Given the description of an element on the screen output the (x, y) to click on. 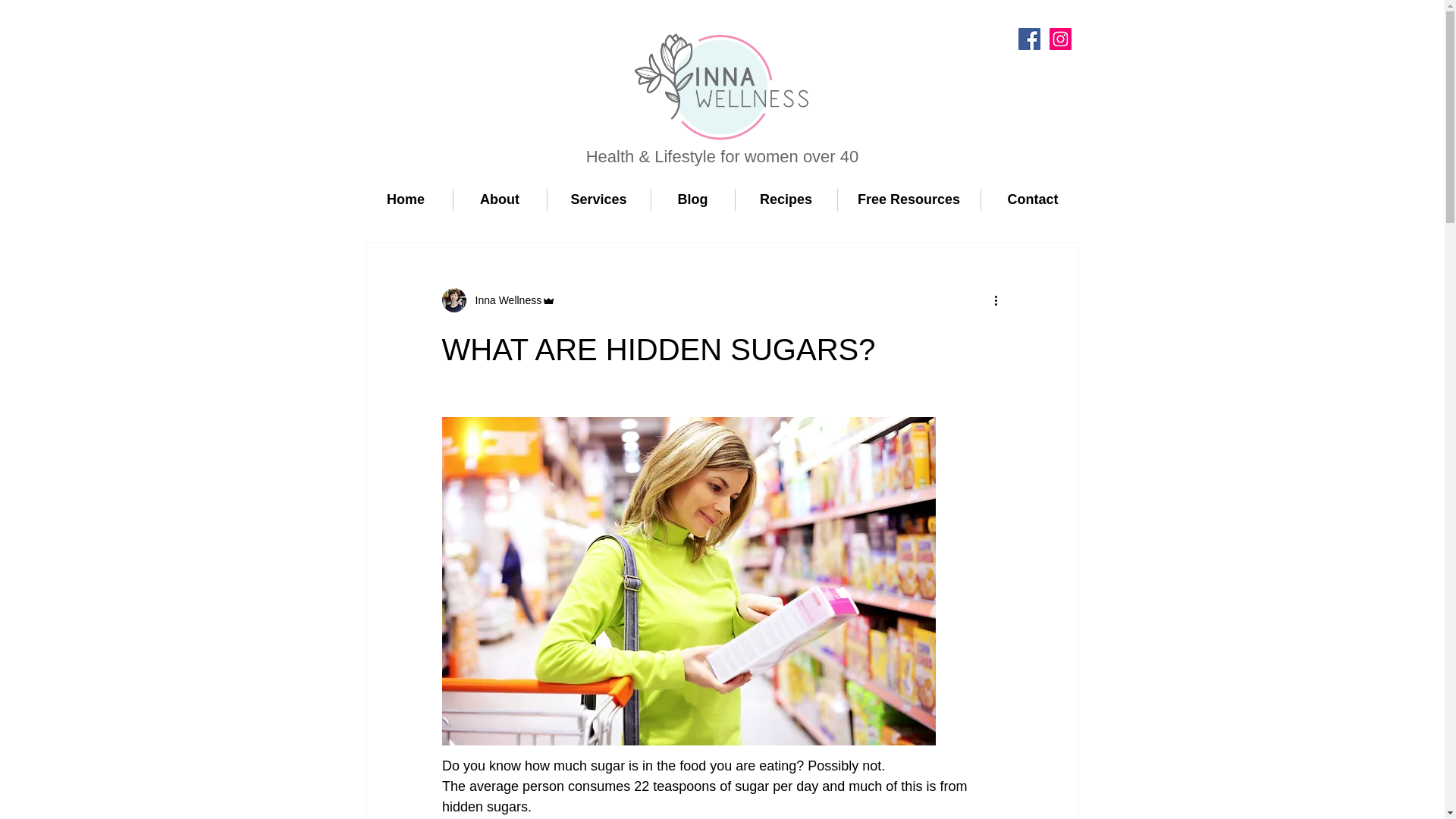
Services (598, 199)
Contact (1032, 199)
About (499, 199)
Free Resources (908, 199)
Blog (691, 199)
Home (405, 199)
Recipes (786, 199)
Inna Wellness (503, 300)
